Given the description of an element on the screen output the (x, y) to click on. 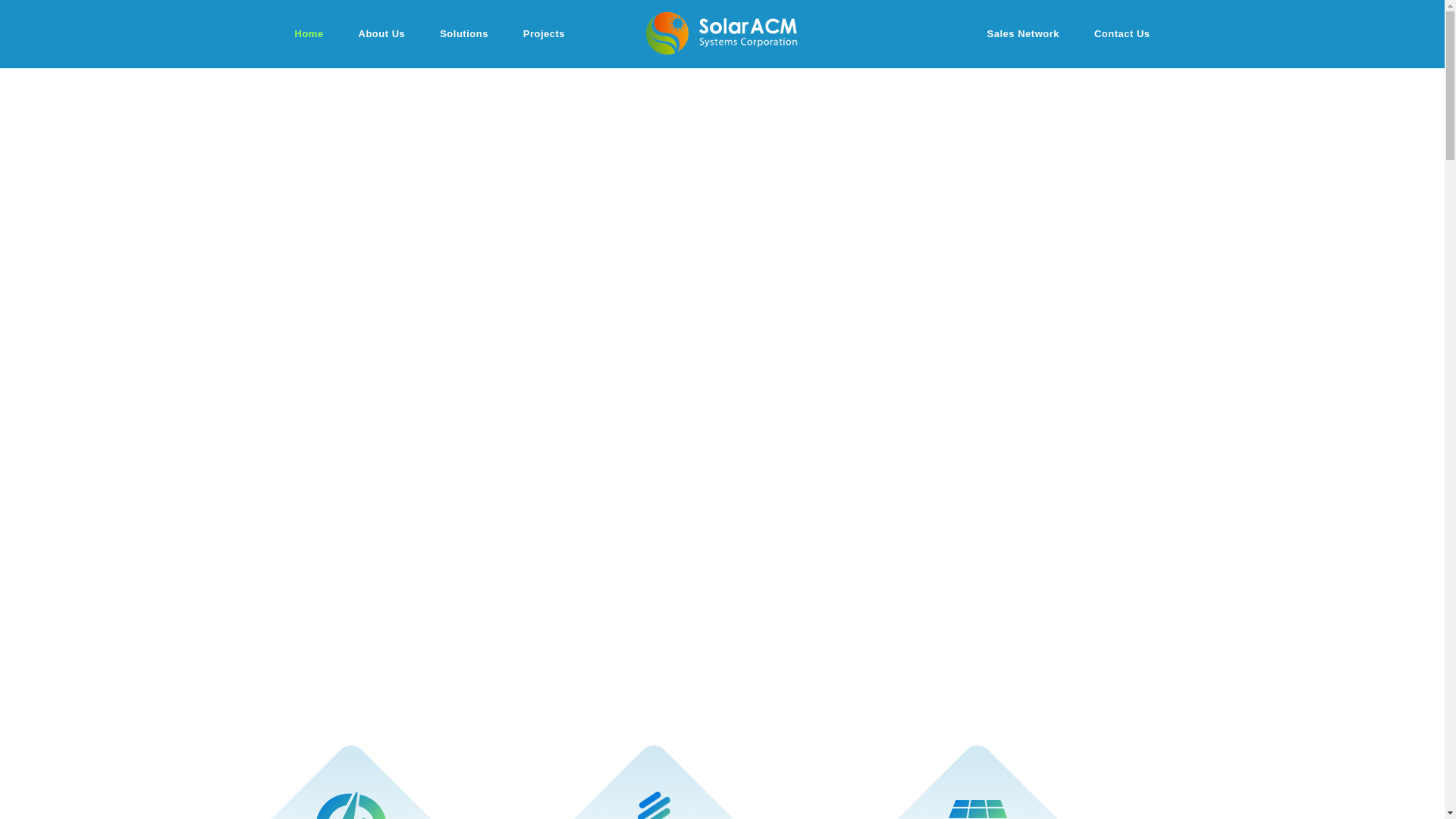
SolarACM (722, 33)
Solutions (463, 33)
Projects (543, 33)
SolarACM (722, 33)
Contact Us (1122, 33)
Sales Network (1023, 33)
About Us (382, 33)
